Given the description of an element on the screen output the (x, y) to click on. 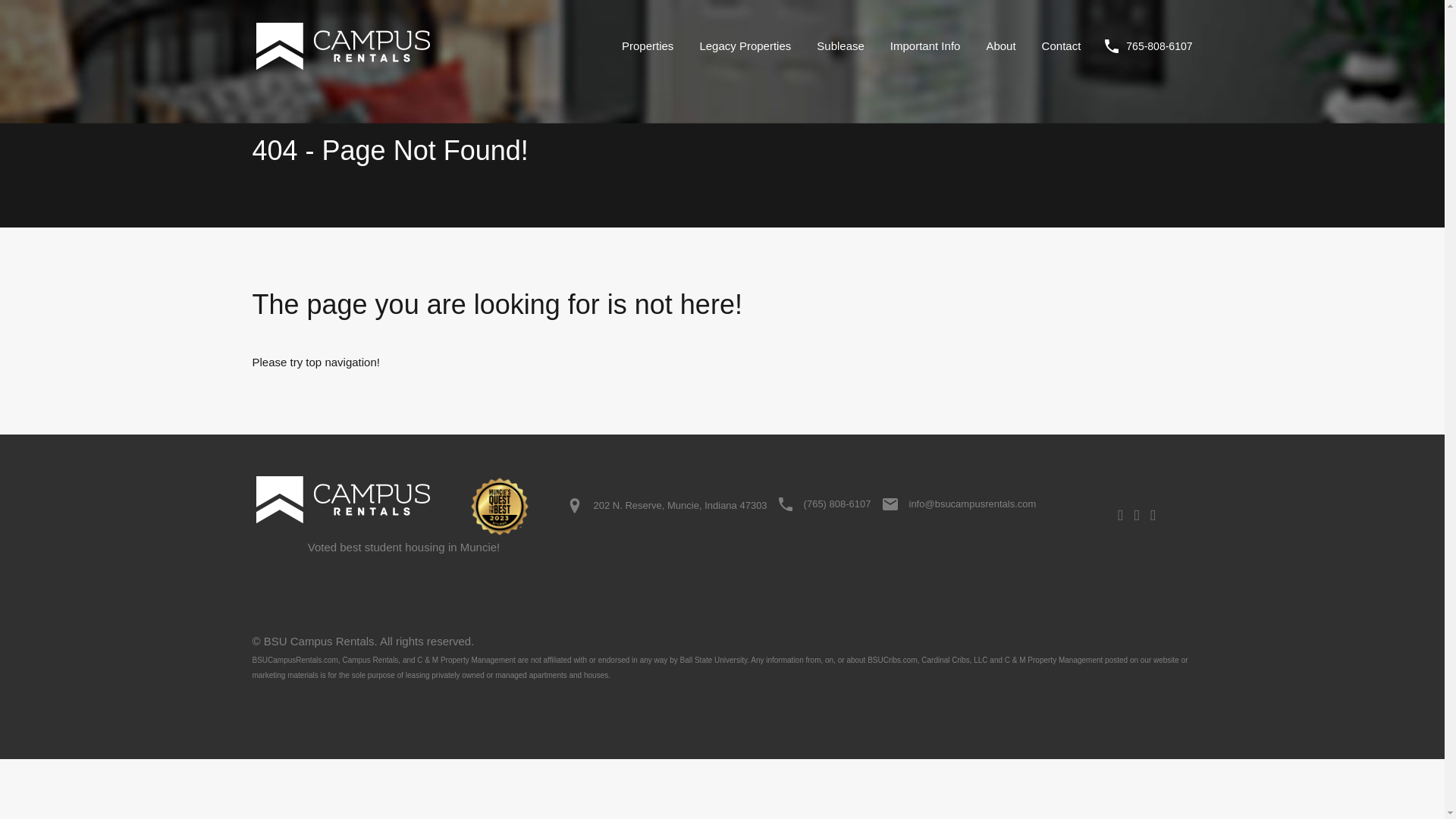
BSU Campus Rentals (341, 65)
Properties (646, 46)
Legacy Properties (744, 46)
Sublease (840, 46)
BSU Campus Rentals (347, 506)
Contact (1061, 46)
Important Info (925, 46)
About (999, 46)
